Given the description of an element on the screen output the (x, y) to click on. 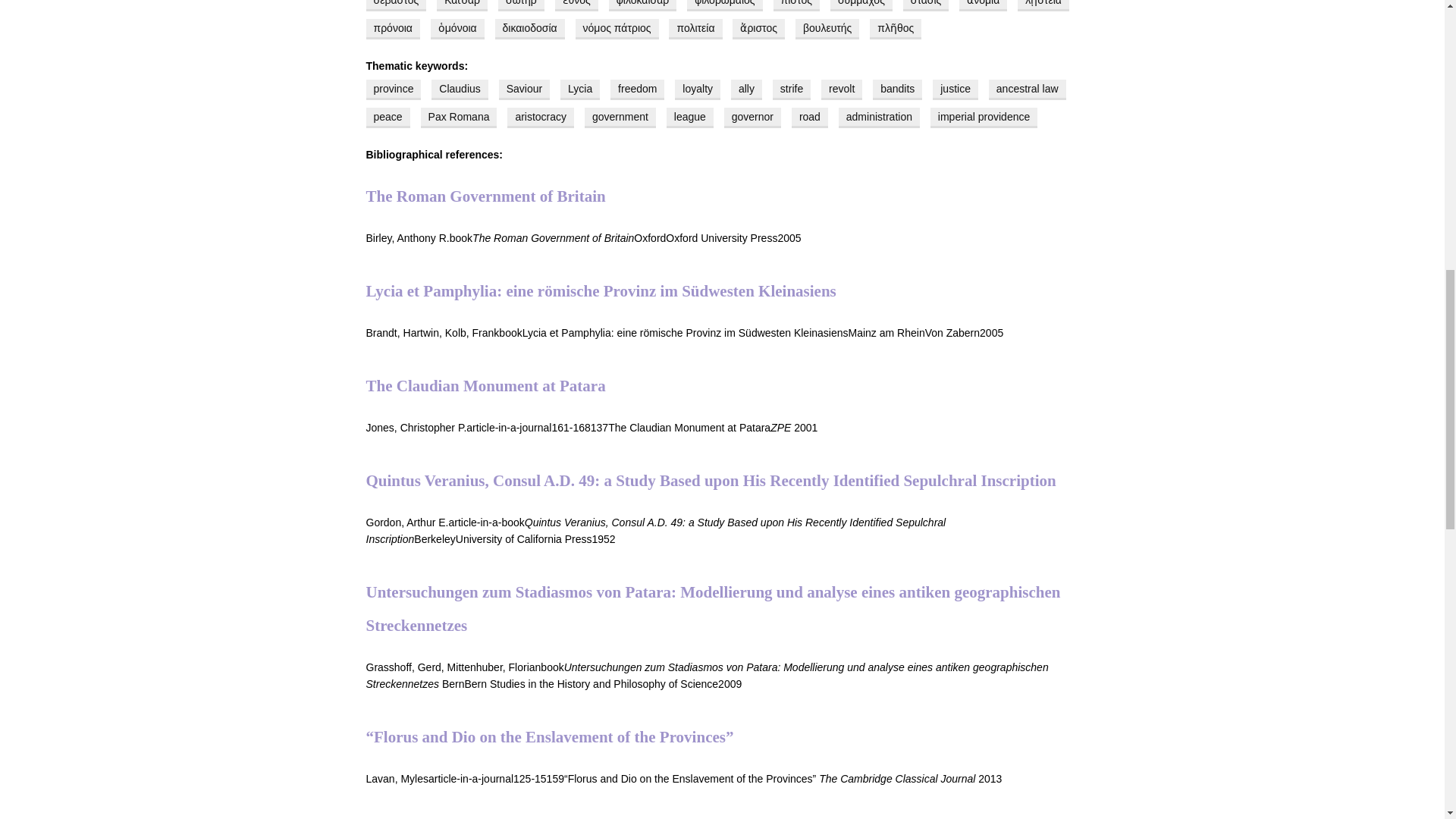
Saviour (524, 89)
province (392, 89)
Lycia (579, 89)
Claudius (458, 89)
bandits (896, 89)
revolt (841, 89)
ally (745, 89)
freedom (636, 89)
loyalty (697, 89)
strife (791, 89)
